Given the description of an element on the screen output the (x, y) to click on. 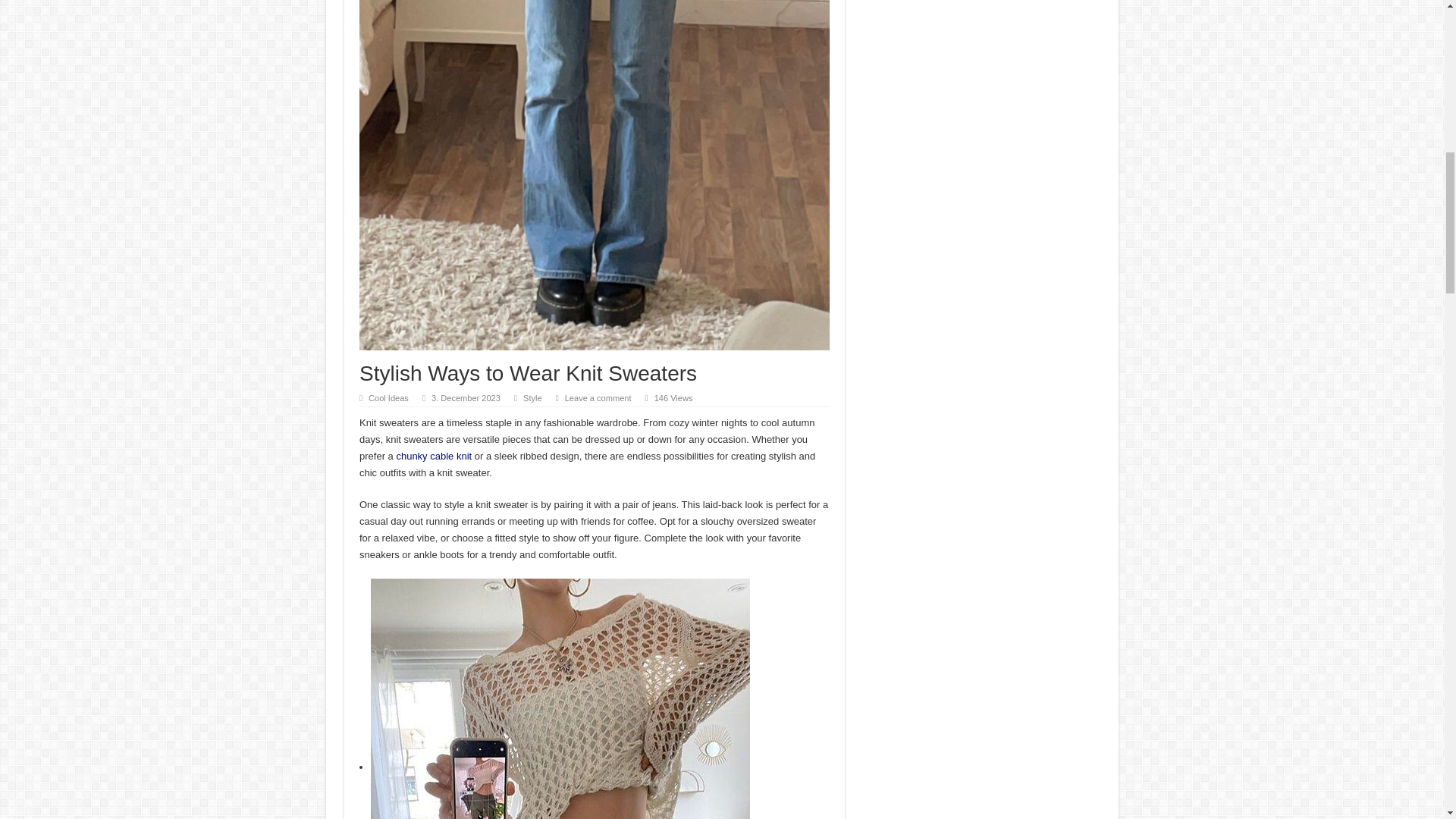
Elegant and Versatile: The Appeal of Neutral Sweaters (433, 455)
Style (531, 397)
Leave a comment (597, 397)
Cool Ideas (388, 397)
chunky cable knit (433, 455)
Stylish Ways to rock a Knit Sweater this Season (560, 698)
